Given the description of an element on the screen output the (x, y) to click on. 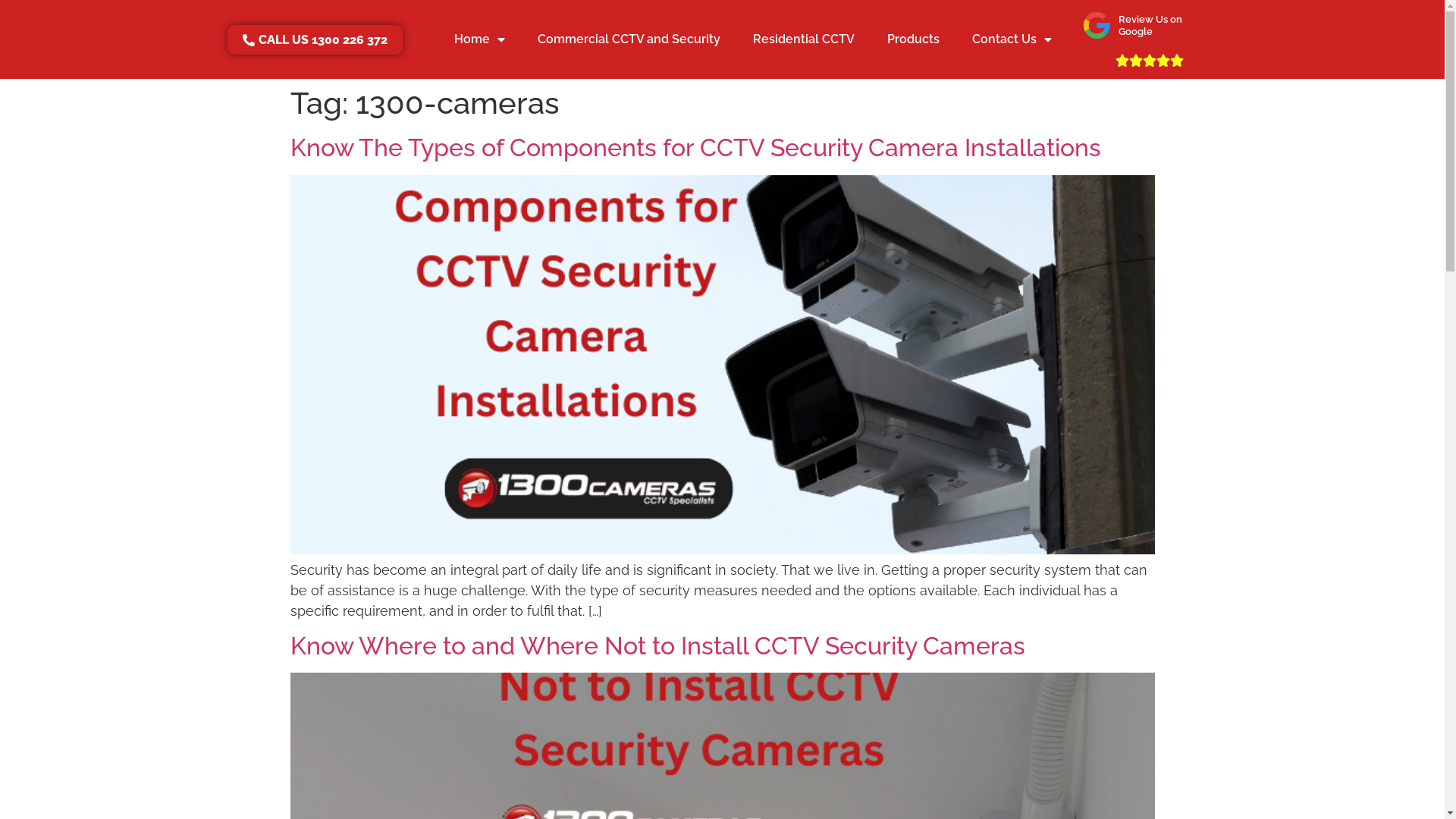
Review Us on Google Element type: text (1150, 25)
Contact Us Element type: text (1012, 38)
Know Where to and Where Not to Install CCTV Security Cameras Element type: text (656, 645)
Residential CCTV Element type: text (804, 38)
Commercial CCTV and Security Element type: text (628, 38)
Products Element type: text (913, 38)
Home Element type: text (478, 38)
CALL US 1300 226 372 Element type: text (314, 39)
